Given the description of an element on the screen output the (x, y) to click on. 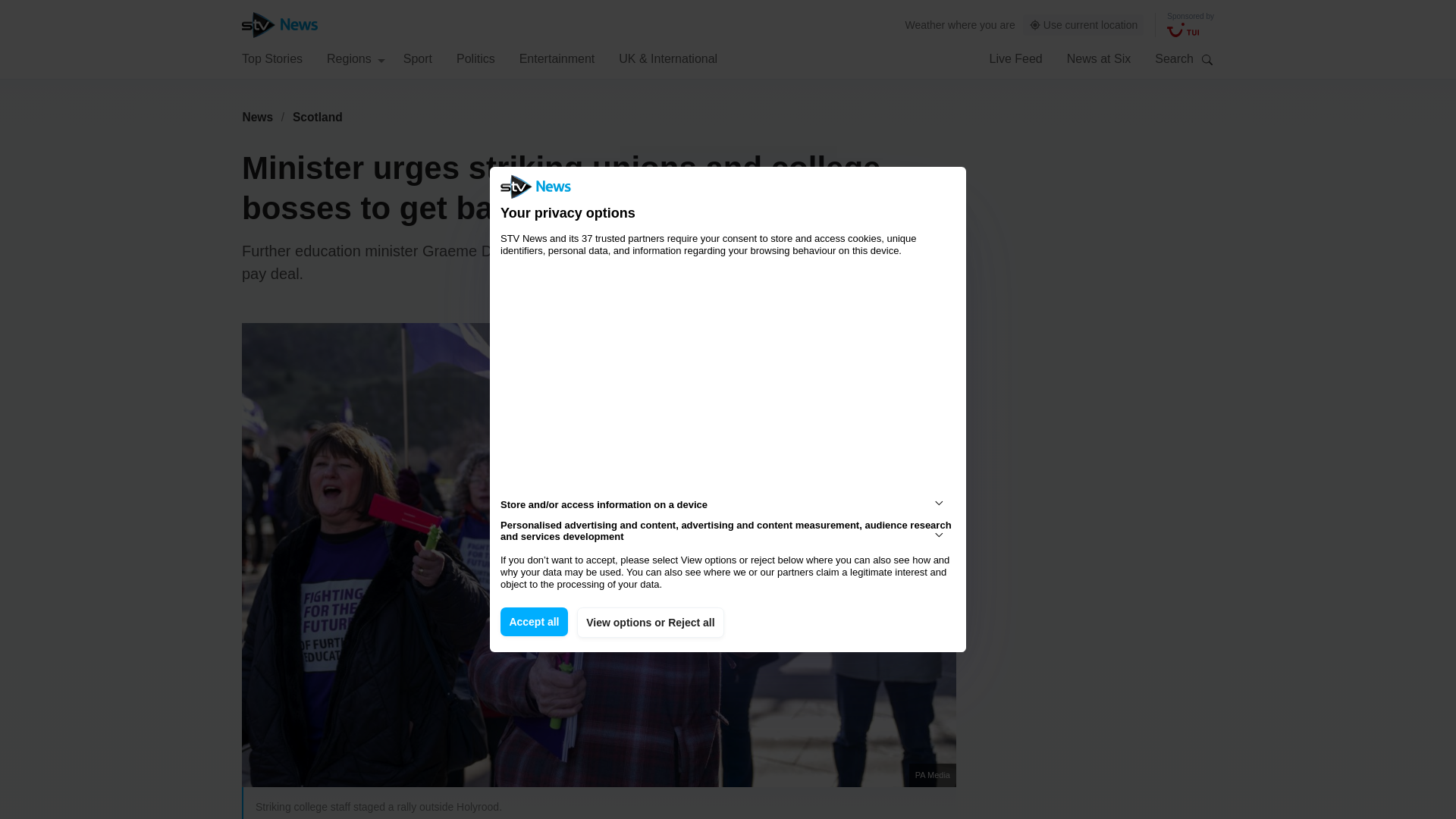
News at Six (1099, 57)
Entertainment (557, 57)
Scotland (317, 116)
News (257, 116)
Search (1206, 59)
Use current location (1083, 25)
Regions (355, 57)
Politics (476, 57)
Live Feed (1015, 57)
